Given the description of an element on the screen output the (x, y) to click on. 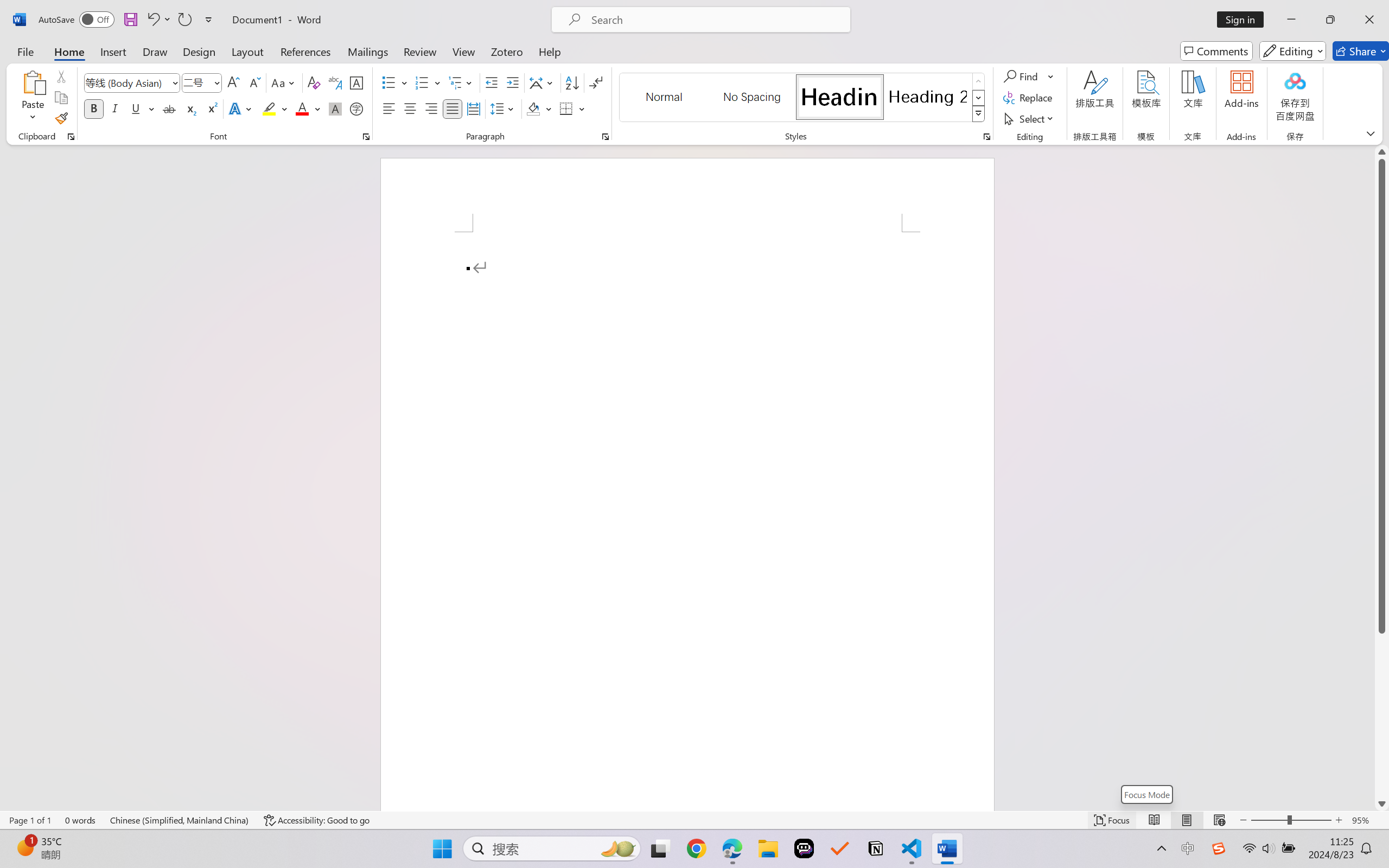
Editing (1292, 50)
